Given the description of an element on the screen output the (x, y) to click on. 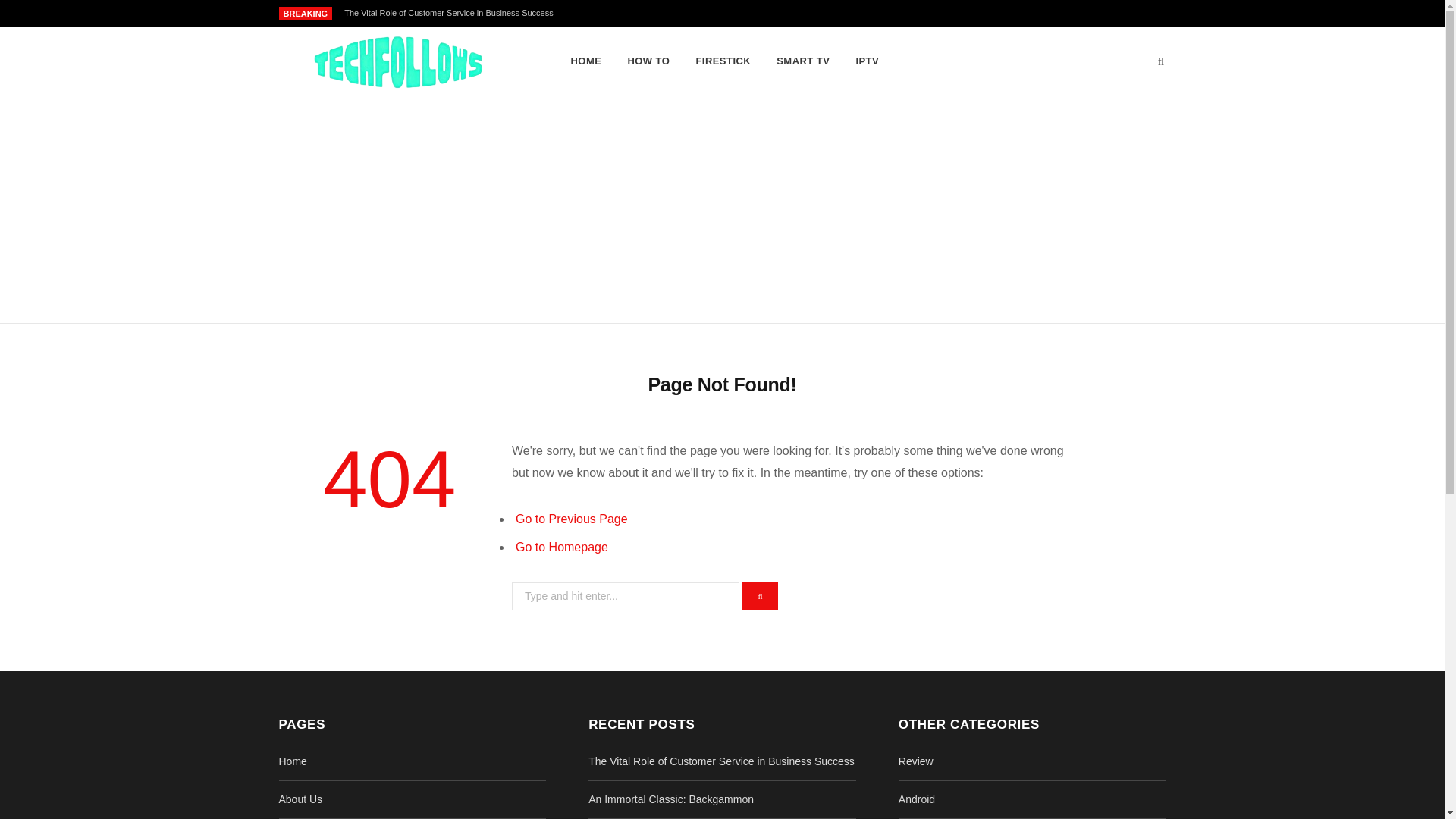
HOW TO (648, 61)
Android (916, 799)
Go to Previous Page (571, 518)
About Us (301, 799)
An Immortal Classic: Backgammon (671, 799)
The Vital Role of Customer Service in Business Success (721, 761)
Go to Homepage (561, 546)
Tech Follows (400, 62)
FIRESTICK (722, 61)
SMART TV (803, 61)
